Given the description of an element on the screen output the (x, y) to click on. 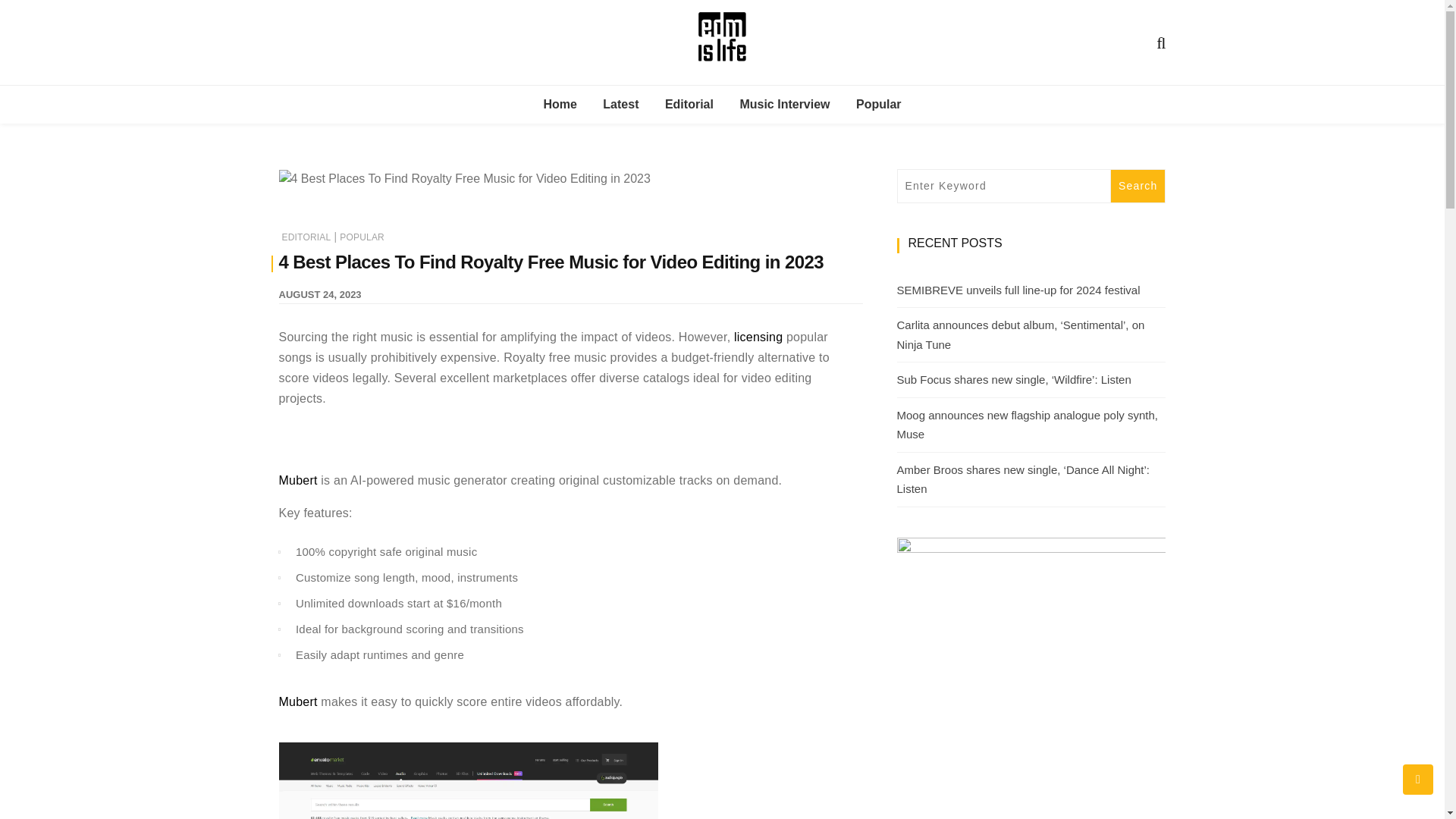
Mubert (298, 701)
Sync (758, 336)
AUGUST 24, 2023 (320, 294)
Search (1137, 185)
Mubert (298, 479)
EDM Is Life (797, 104)
Home (559, 104)
Music Interview (784, 104)
POPULAR (361, 236)
Popular (878, 104)
Editorial (689, 104)
licensing (758, 336)
EDITORIAL (306, 236)
Latest (620, 104)
